Given the description of an element on the screen output the (x, y) to click on. 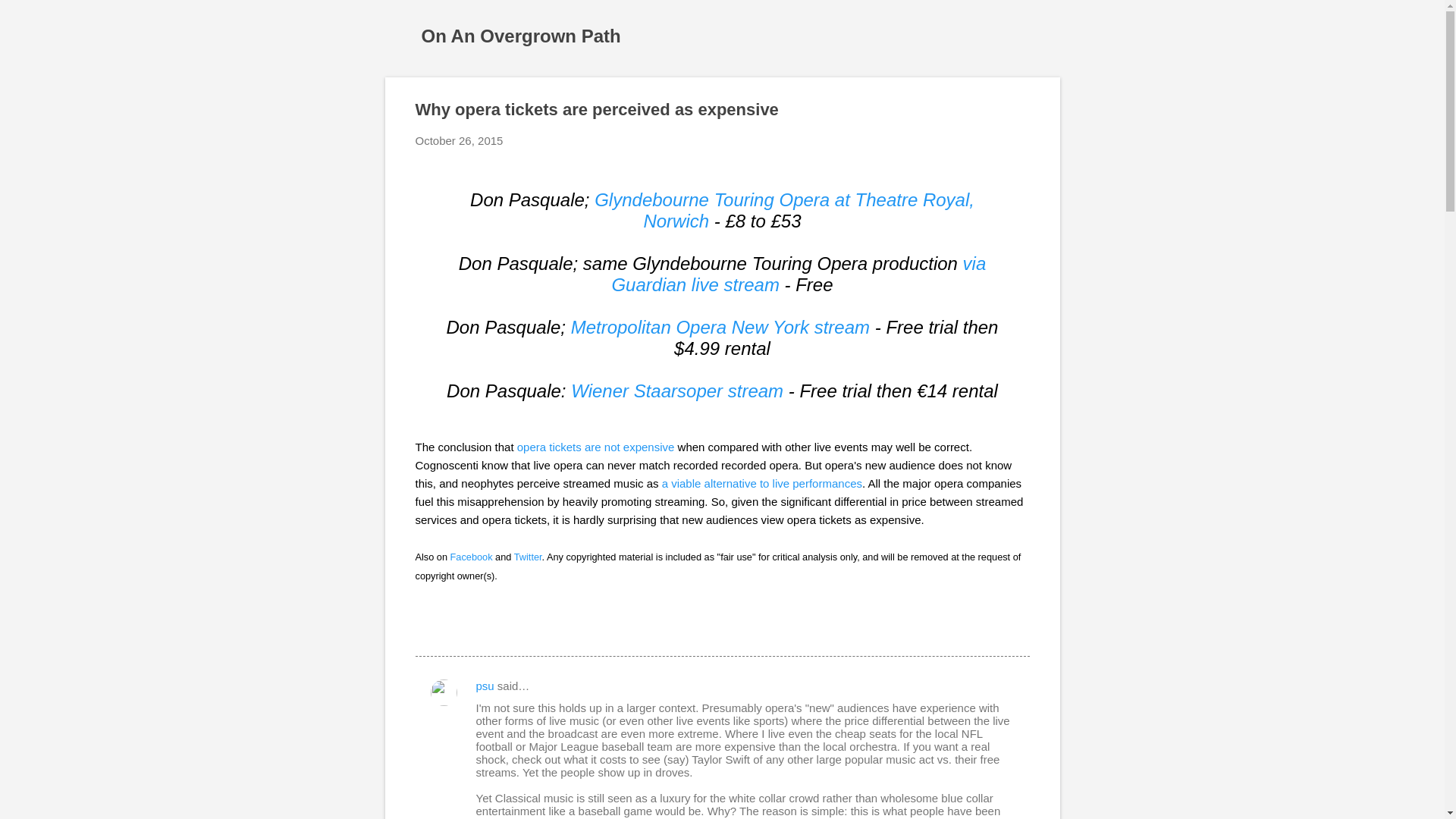
Twitter (527, 556)
Email Post (423, 627)
a viable alternative to live performances (761, 482)
Wiener Staarsoper stream (676, 390)
Metropolitan Opera New York stream (719, 326)
psu (485, 685)
via Guardian live stream (798, 273)
opera tickets are not expensive (595, 446)
On An Overgrown Path (521, 35)
October 26, 2015 (458, 140)
Glyndebourne Touring Opera at Theatre Royal, Norwich (784, 209)
Search (29, 18)
permanent link (458, 140)
Facebook (471, 556)
